Given the description of an element on the screen output the (x, y) to click on. 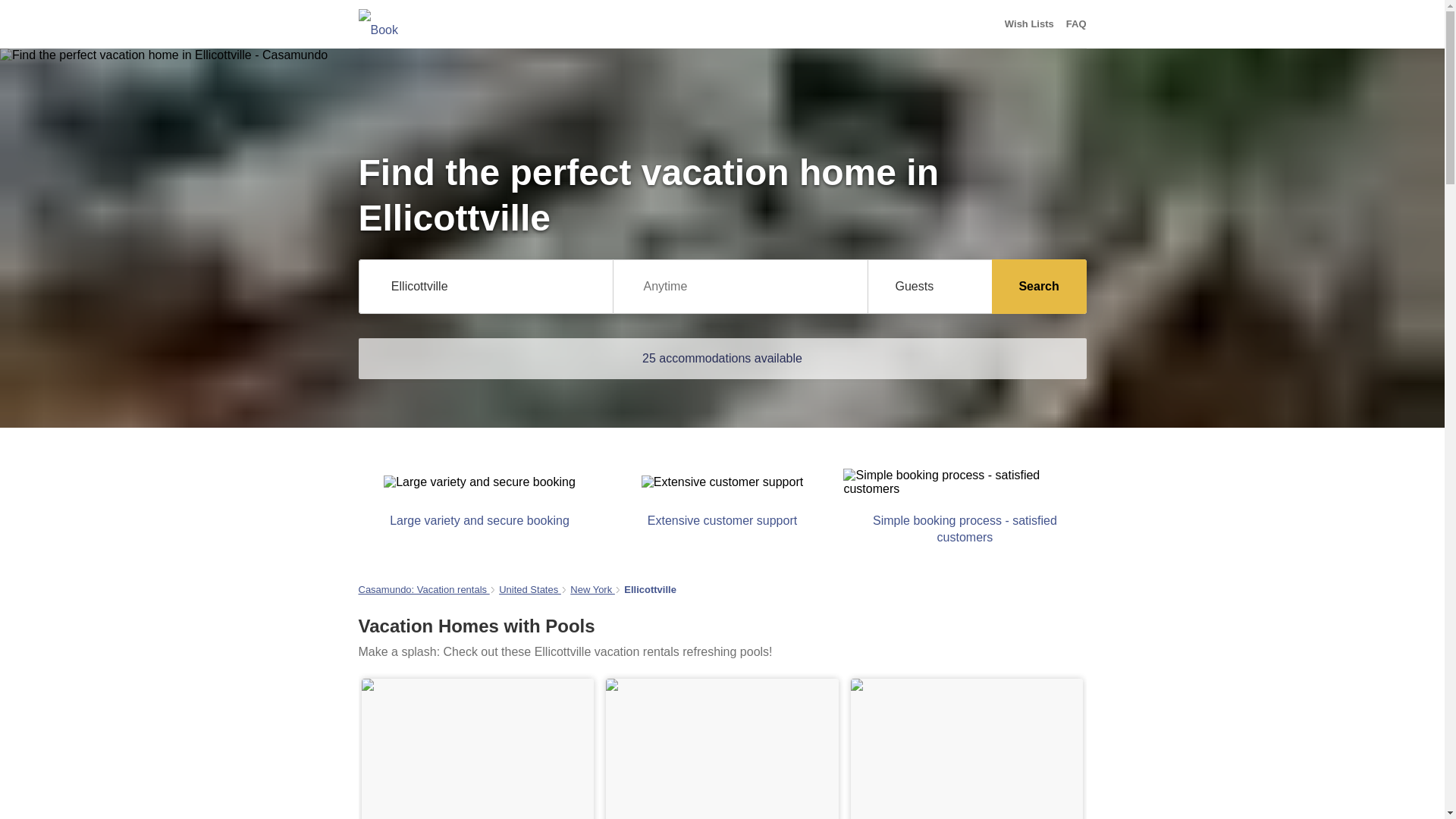
New York (592, 589)
United States (529, 589)
Wish Lists (1029, 24)
New York (592, 589)
United States (529, 589)
Casamundo: Vacation rentals (423, 589)
Search (1038, 286)
Casamundo: Vacation rentals (423, 589)
